Given the description of an element on the screen output the (x, y) to click on. 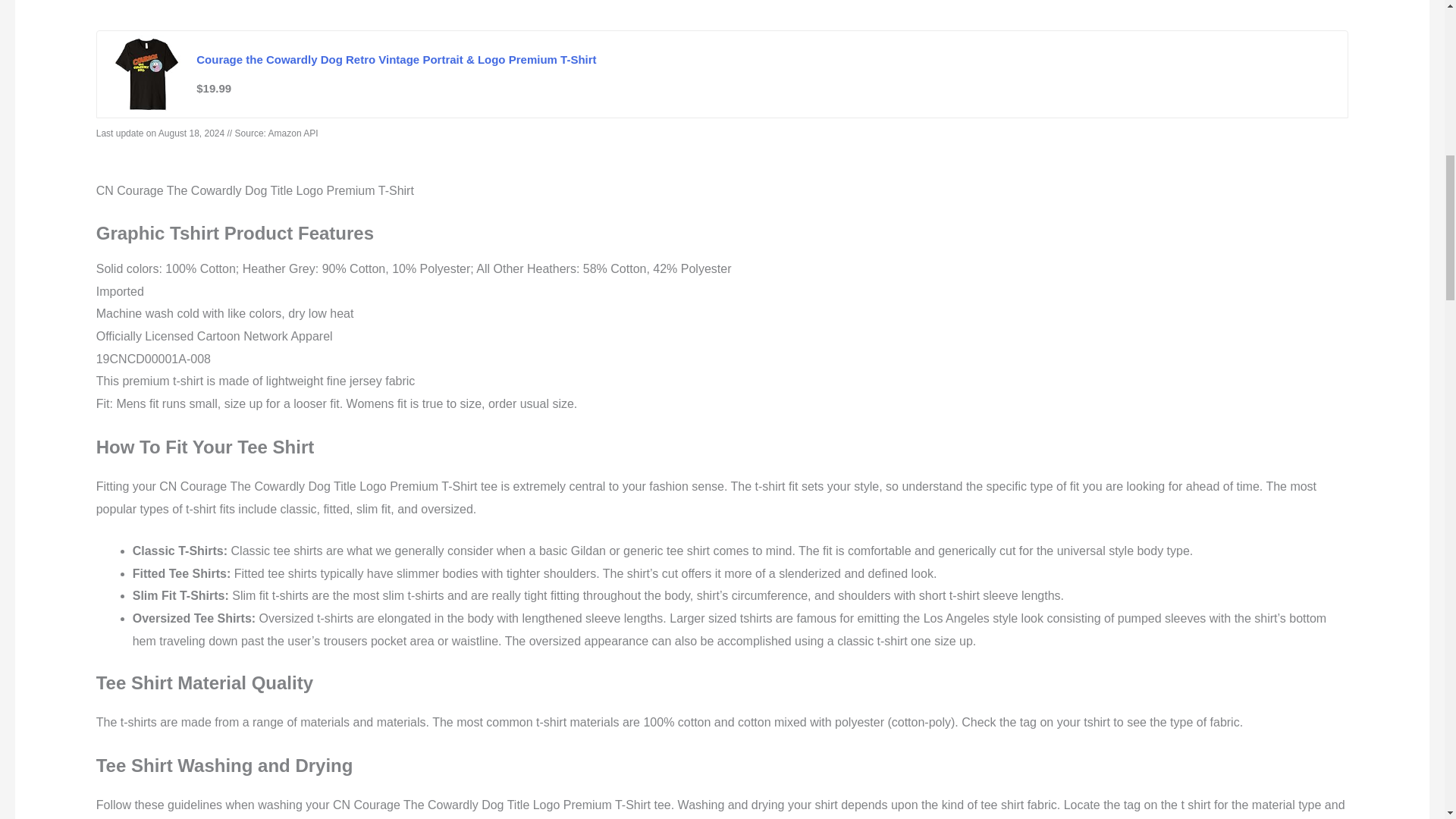
Description (129, 5)
T-Shirt Sizing (354, 5)
Additional information (239, 5)
